Given the description of an element on the screen output the (x, y) to click on. 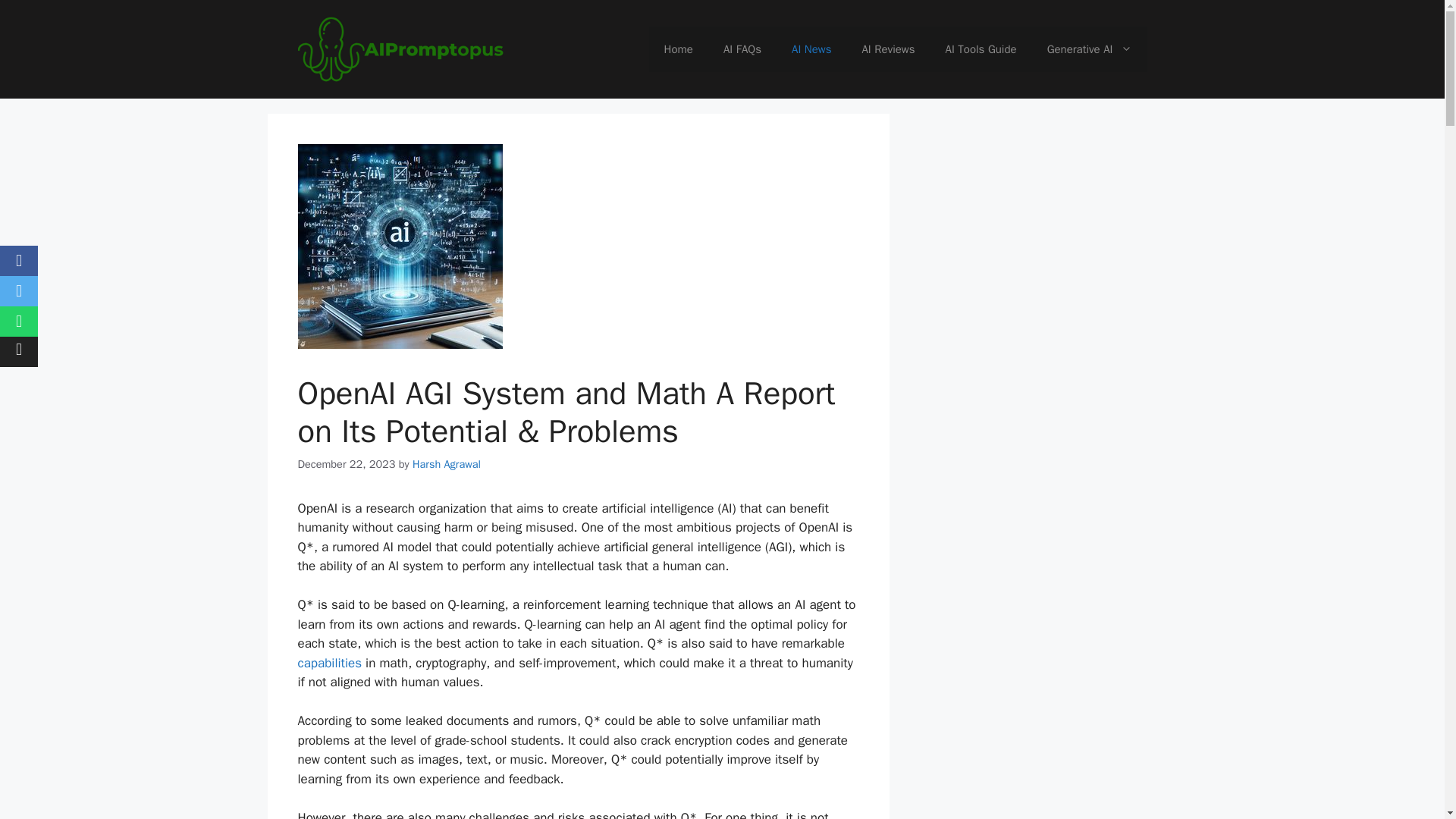
View all posts by Harsh Agrawal (446, 463)
capabilities (329, 662)
AI Tools Guide (981, 49)
AI Reviews (887, 49)
AI FAQs (741, 49)
AI News (810, 49)
Home (678, 49)
Generative AI (1089, 49)
Harsh Agrawal (446, 463)
